Given the description of an element on the screen output the (x, y) to click on. 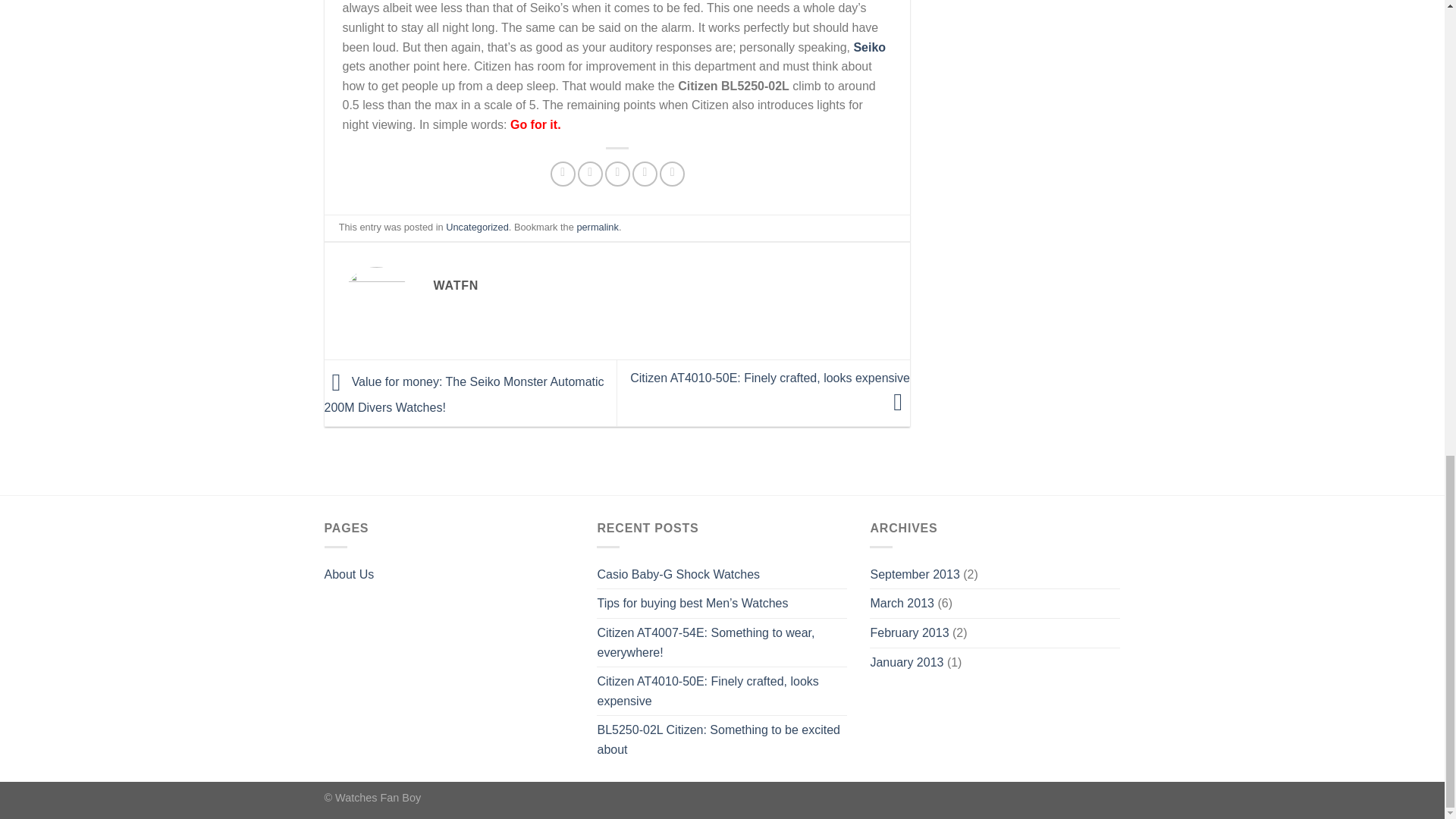
September 2013 (914, 574)
March 2013 (901, 603)
Citizen AT4007-54E: Something to wear, everywhere! (721, 642)
Share on Twitter (590, 173)
Citizen AT4010-50E: Finely crafted, looks expensive (770, 389)
BL5250-02L Citizen: Something to be excited about (721, 739)
permalink (596, 226)
Email to a Friend (617, 173)
Share on LinkedIn (671, 173)
Pin on Pinterest (644, 173)
